Given the description of an element on the screen output the (x, y) to click on. 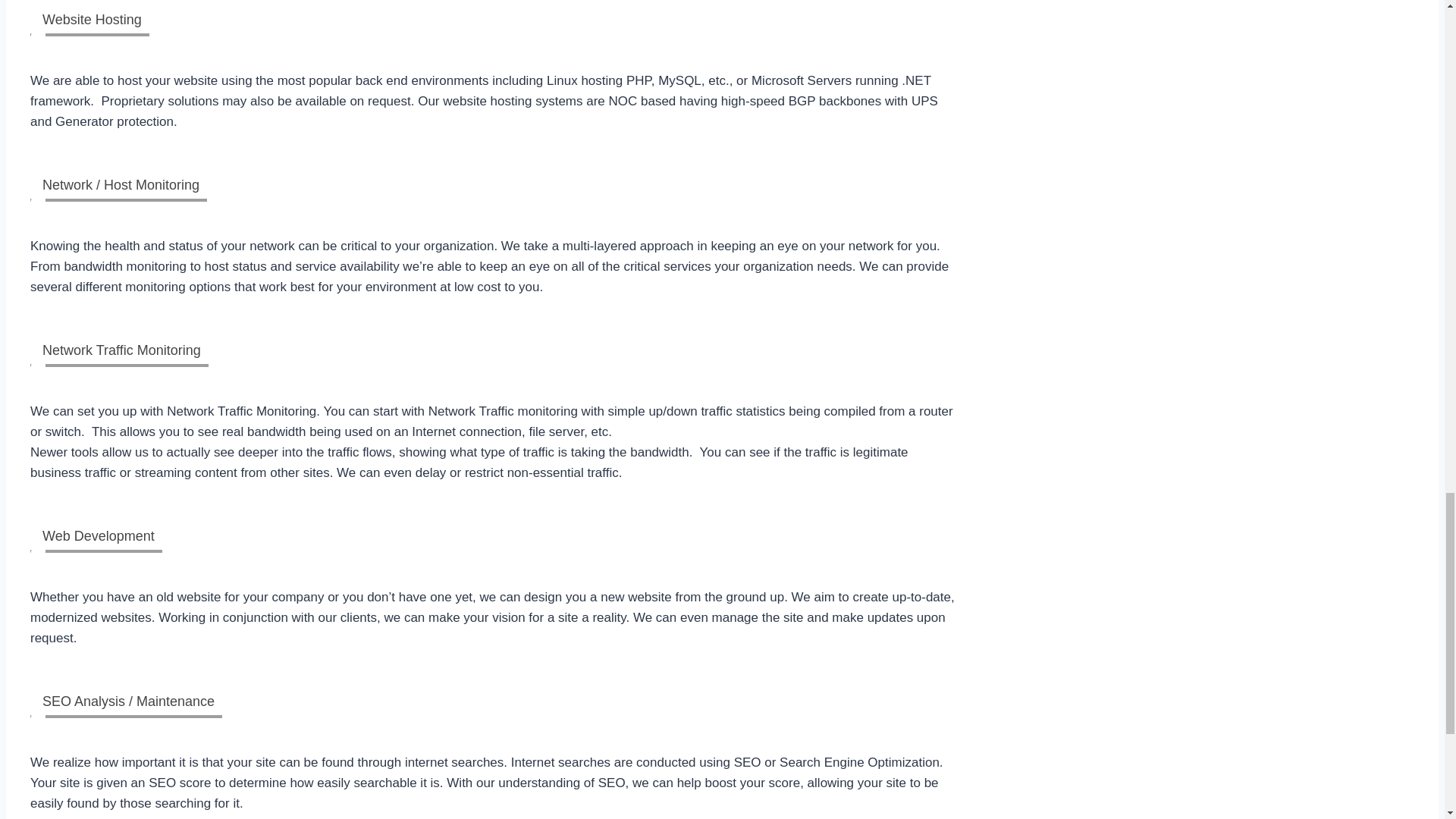
Web Development (95, 534)
Network Traffic Monitoring (119, 348)
Website Hosting (89, 18)
